Given the description of an element on the screen output the (x, y) to click on. 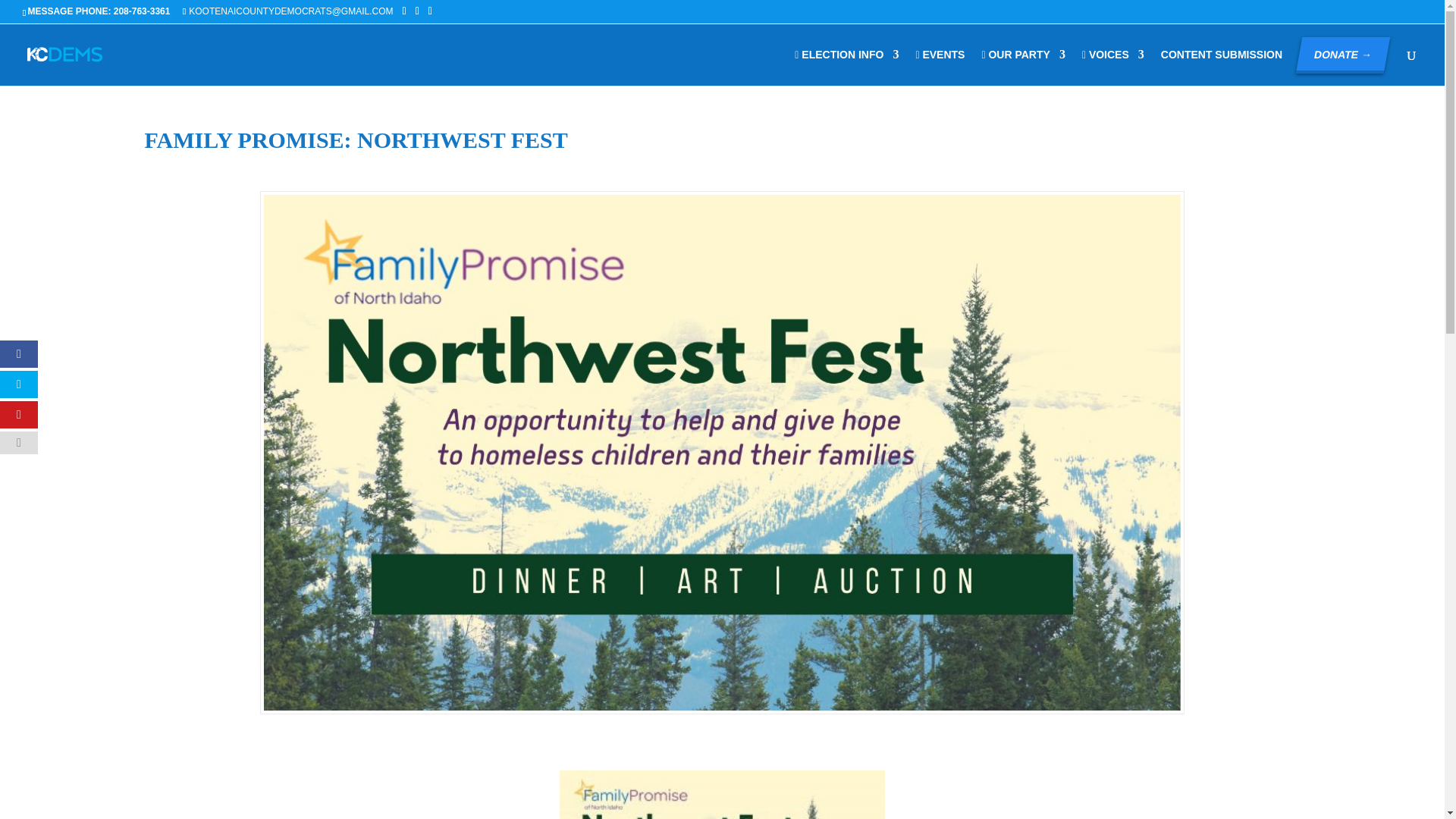
EVENTS (939, 67)
ELECTION INFO (846, 67)
OUR PARTY (1022, 67)
CONTENT SUBMISSION (1221, 67)
VOICES (1112, 67)
